Given the description of an element on the screen output the (x, y) to click on. 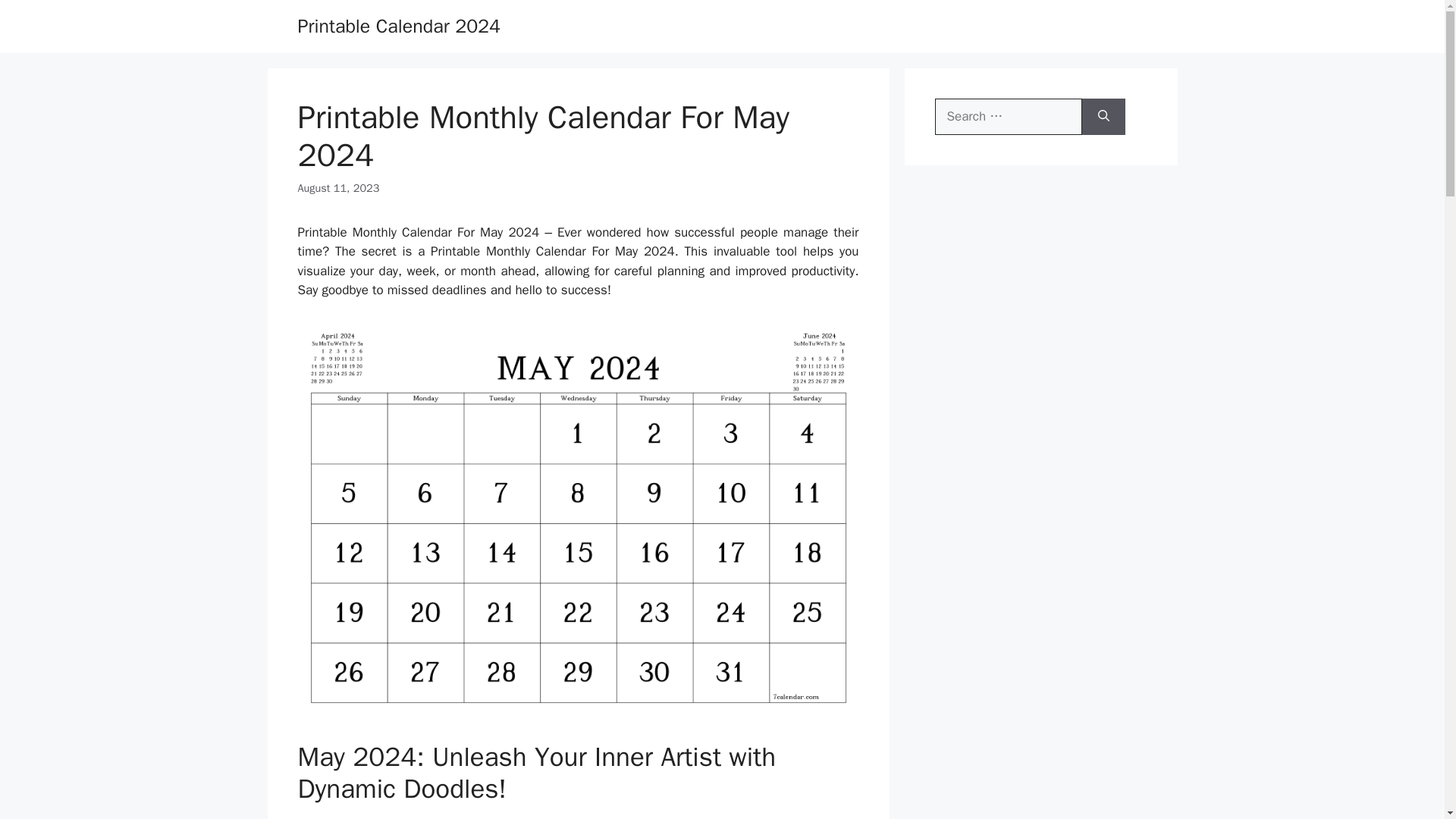
Printable Calendar 2024 (398, 25)
Search for: (1007, 116)
